Given the description of an element on the screen output the (x, y) to click on. 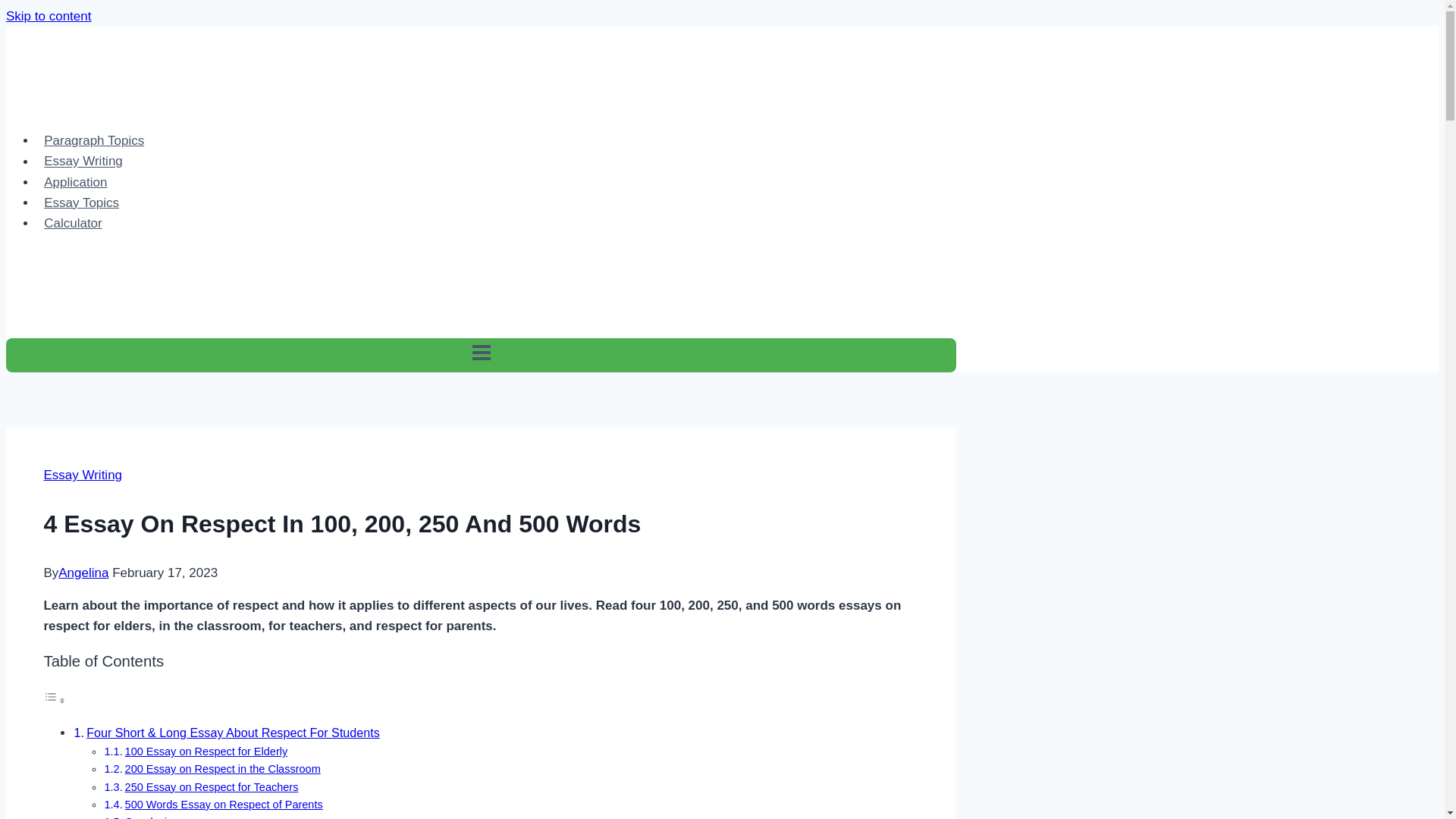
200 Essay on Respect in the Classroom (222, 768)
Paragraph Topics (93, 140)
200 Essay on Respect in the Classroom (222, 768)
500 Words Essay on Respect of Parents (224, 804)
Skip to content (47, 16)
Essay Writing (83, 161)
Application (75, 182)
500 Words Essay on Respect of Parents (224, 804)
Essay Writing (82, 474)
100 Essay on Respect for Elderly (206, 751)
